Given the description of an element on the screen output the (x, y) to click on. 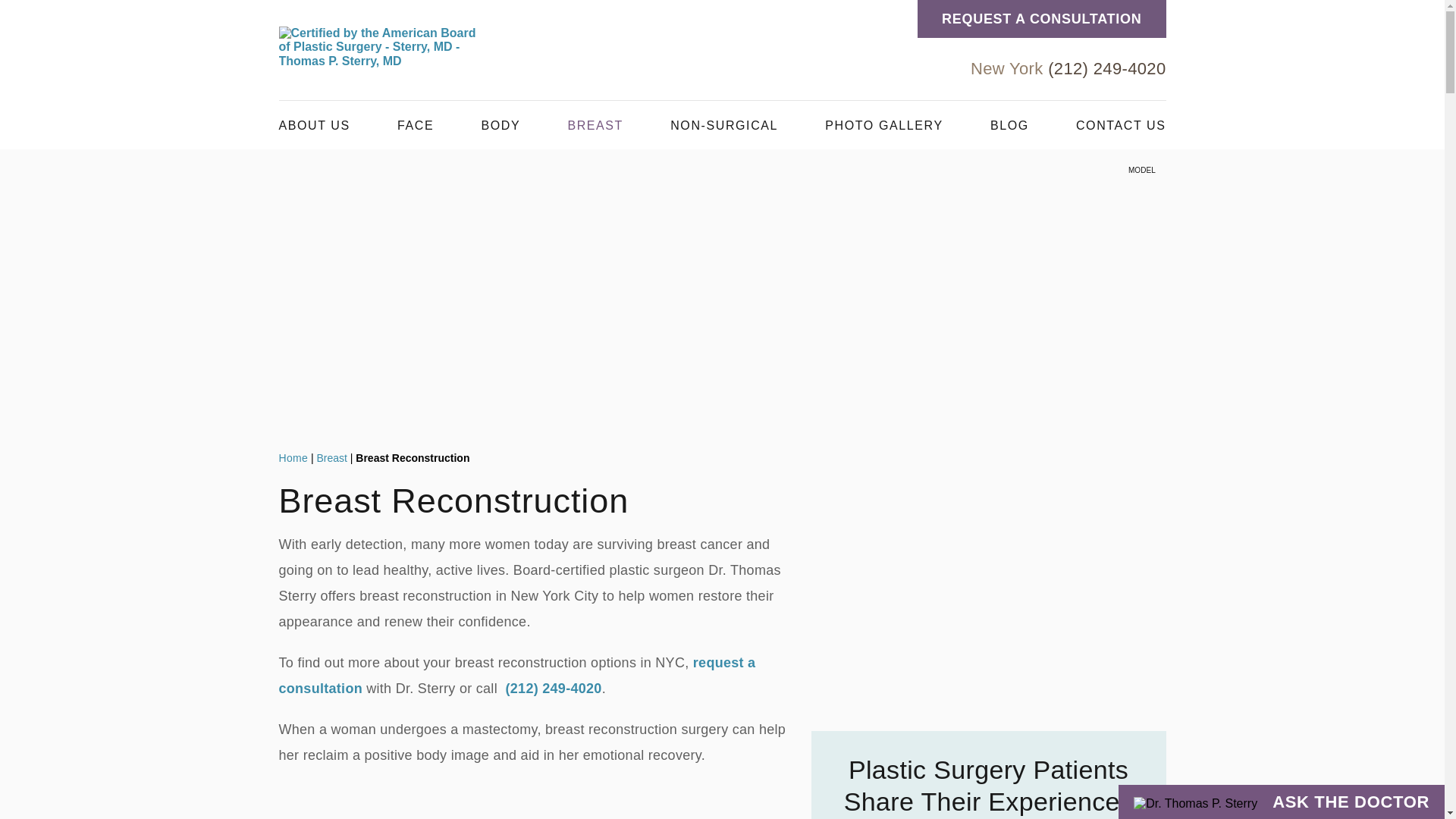
REQUEST A CONSULTATION (1041, 18)
Go to Breast. (330, 458)
ABOUT US (314, 124)
BREAST (595, 124)
